Given the description of an element on the screen output the (x, y) to click on. 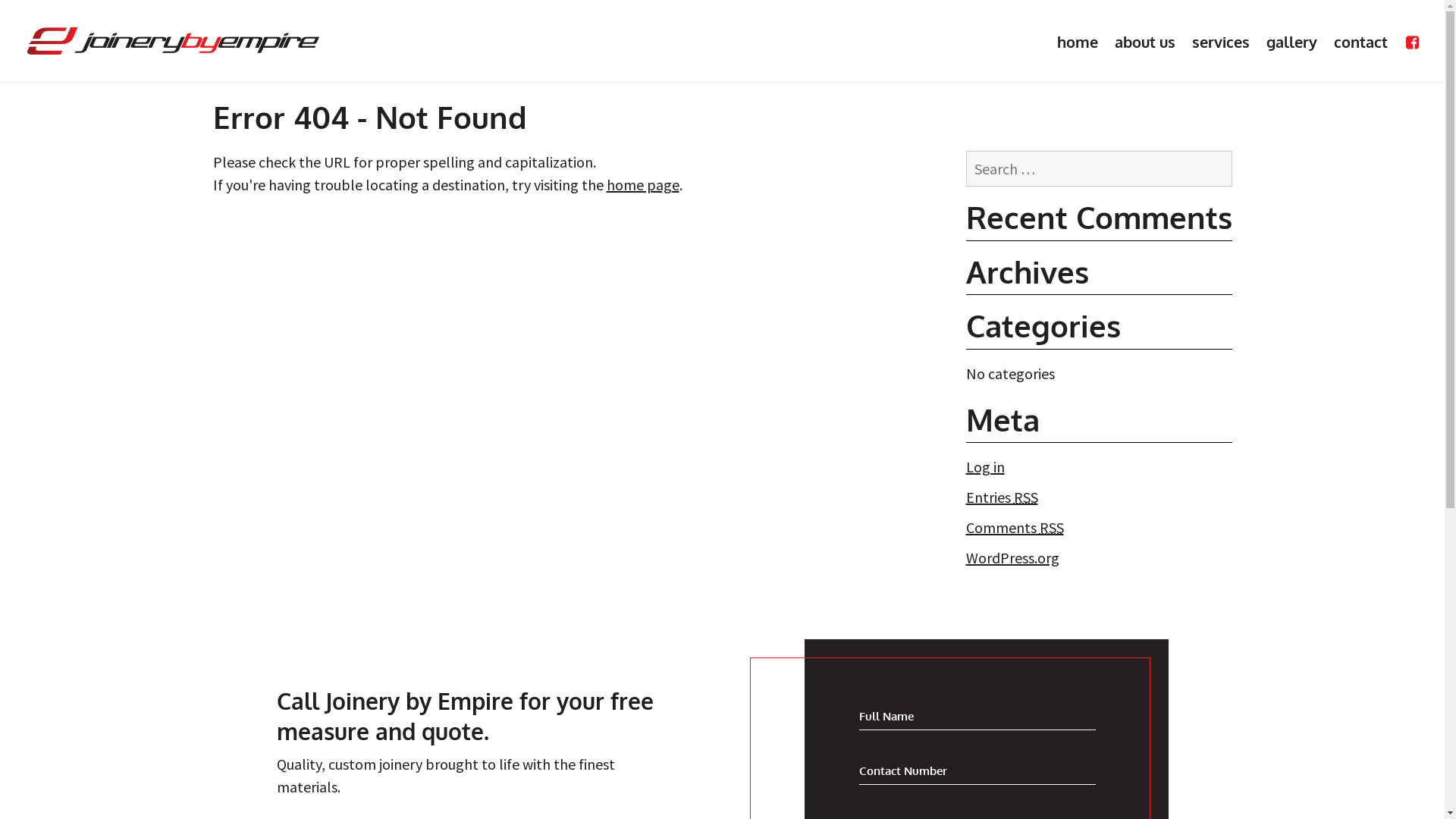
Joinery By Empire Element type: text (173, 40)
services Element type: text (1220, 41)
contact Element type: text (1360, 41)
Comments RSS Element type: text (1014, 526)
about us Element type: text (1144, 41)
Log in Element type: text (985, 466)
Search for: Element type: hover (1099, 168)
home page Element type: text (642, 184)
WordPress.org Element type: text (1012, 557)
home Element type: text (1077, 41)
Entries RSS Element type: text (1002, 496)
gallery Element type: text (1291, 41)
